Given the description of an element on the screen output the (x, y) to click on. 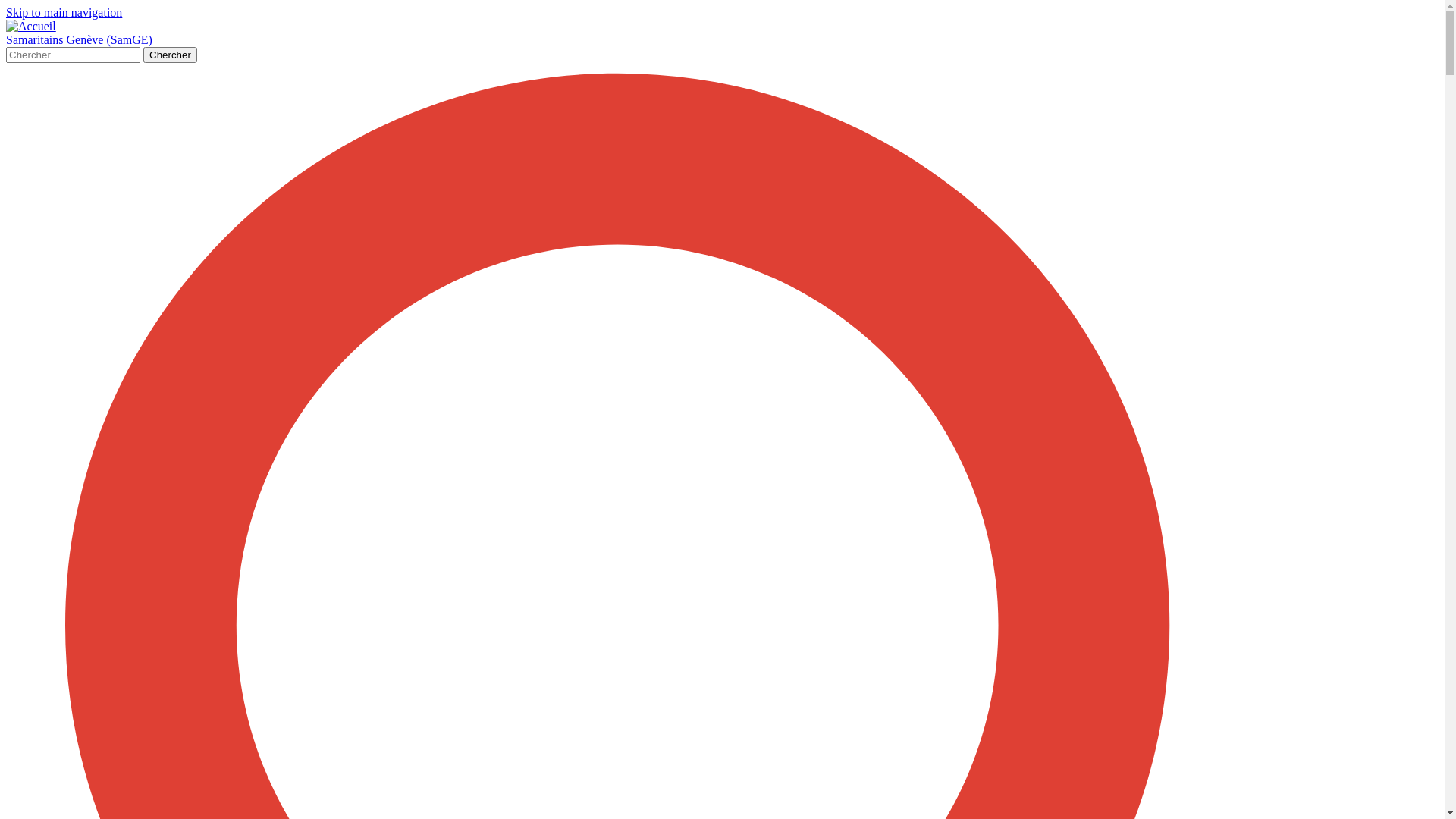
Skip to main navigation Element type: text (64, 12)
Chercher Element type: text (170, 54)
